Given the description of an element on the screen output the (x, y) to click on. 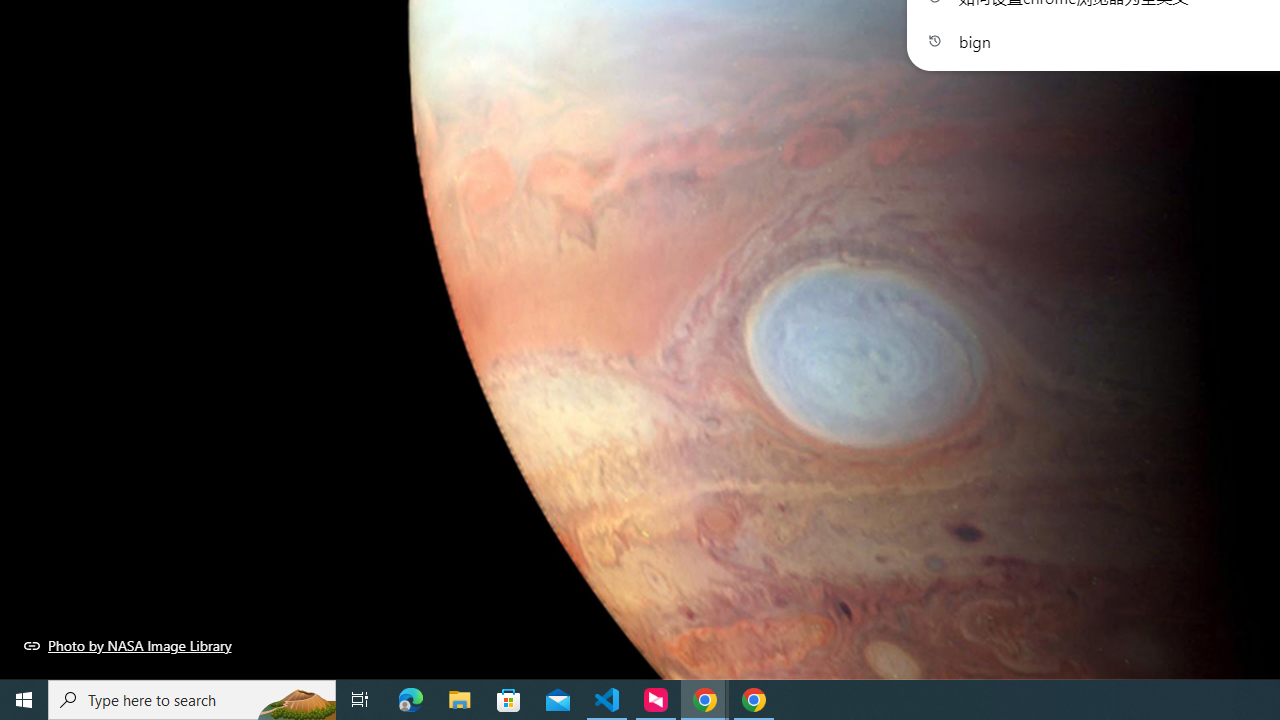
Photo by NASA Image Library (127, 645)
